Given the description of an element on the screen output the (x, y) to click on. 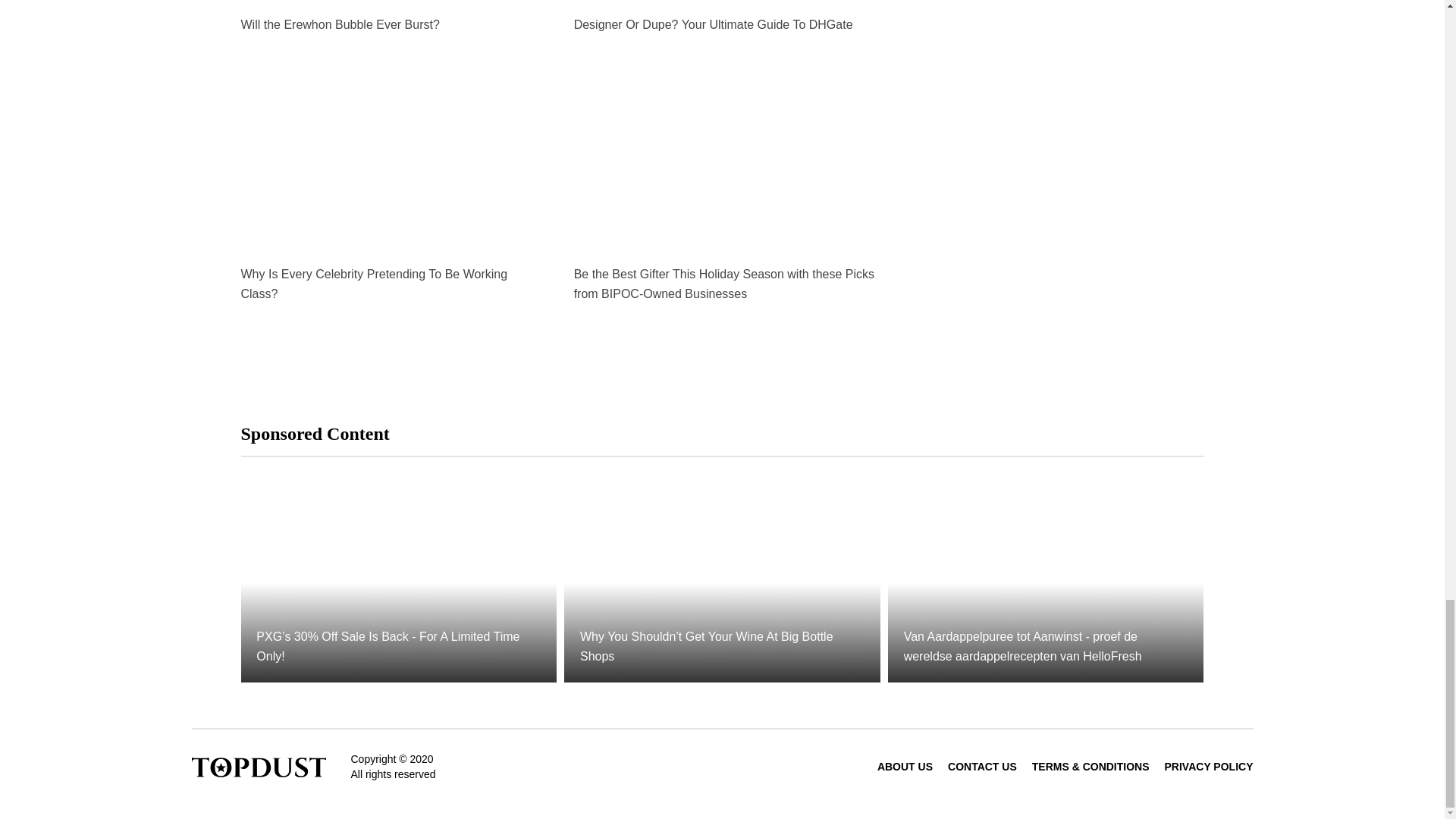
Logo (258, 766)
